Given the description of an element on the screen output the (x, y) to click on. 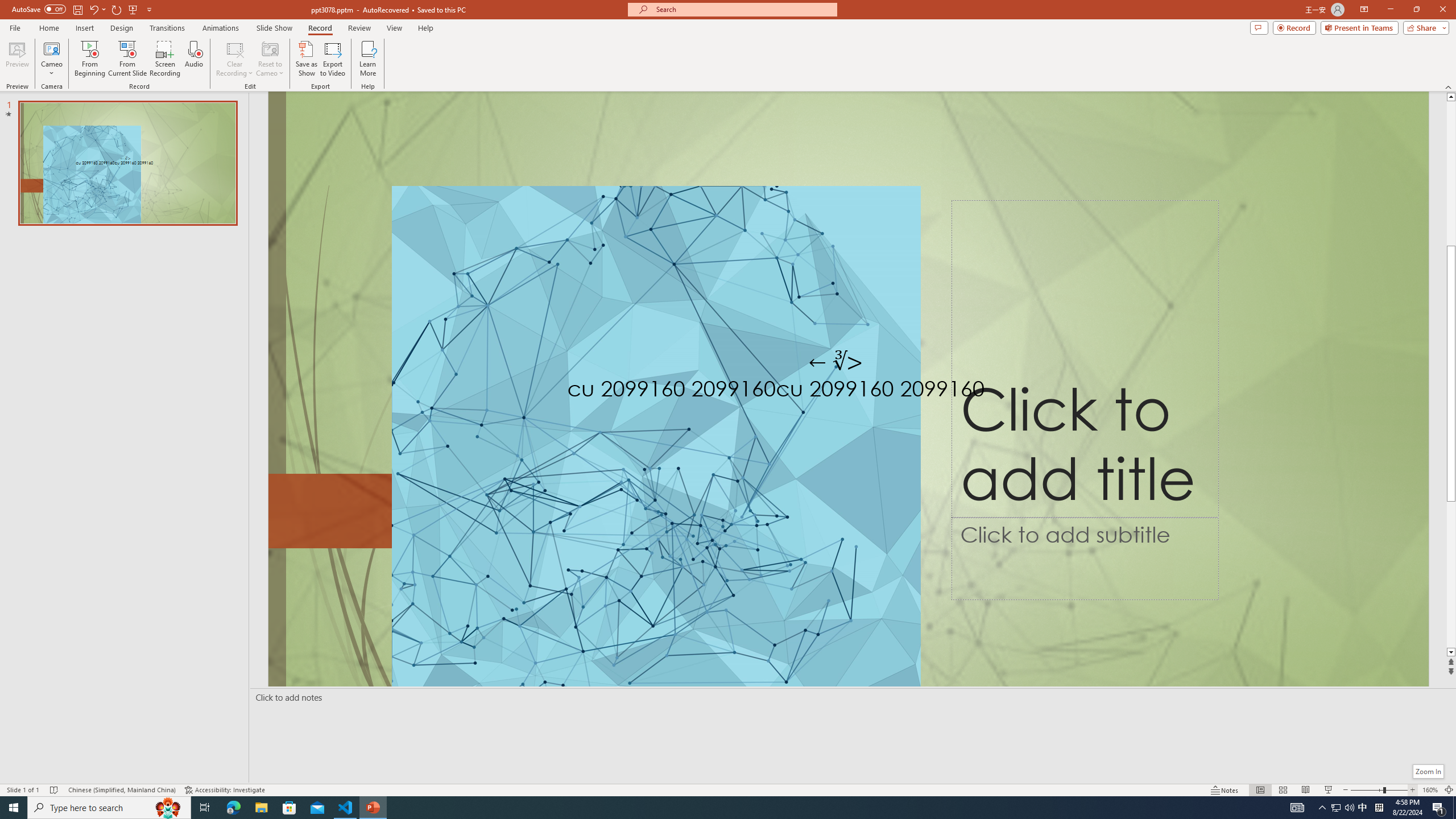
Learn More (368, 58)
Reset to Cameo (269, 58)
Export to Video (332, 58)
Screen Recording (165, 58)
